Given the description of an element on the screen output the (x, y) to click on. 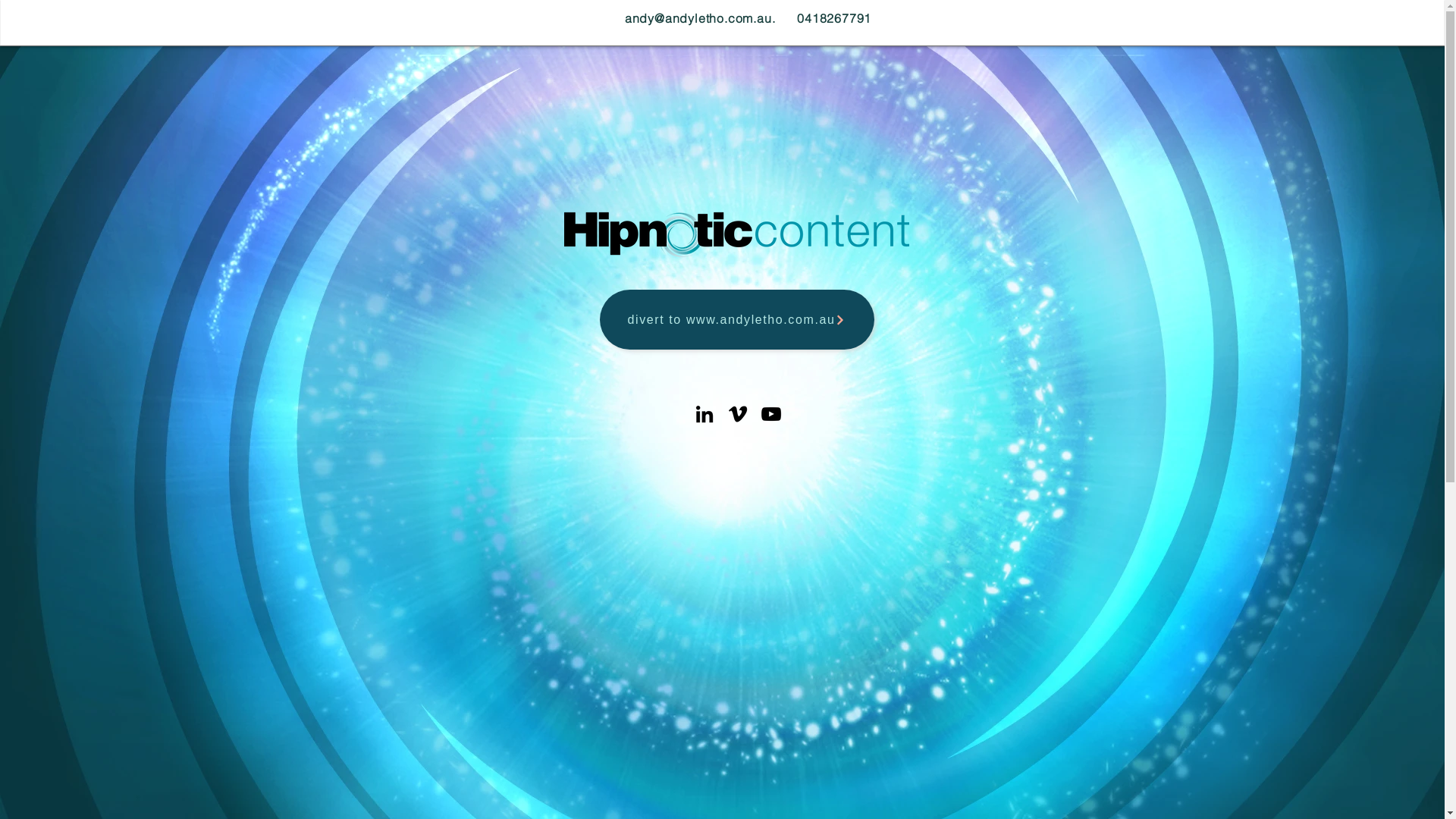
divert to www.andyletho.com.au Element type: text (736, 319)
andy@andyletho.com.au Element type: text (697, 17)
